Given the description of an element on the screen output the (x, y) to click on. 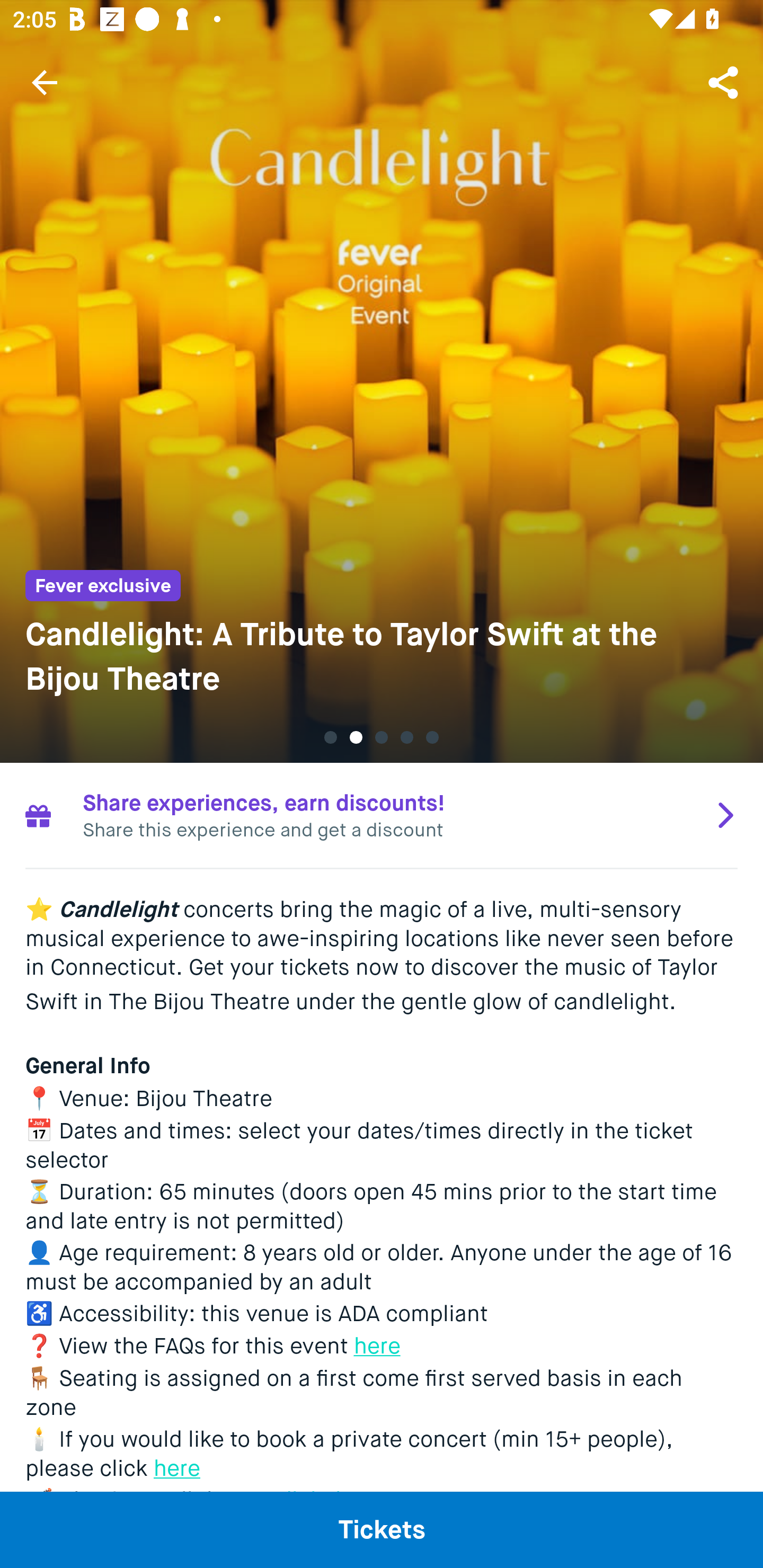
Navigate up (44, 82)
Share (724, 81)
Tickets (381, 1529)
